Given the description of an element on the screen output the (x, y) to click on. 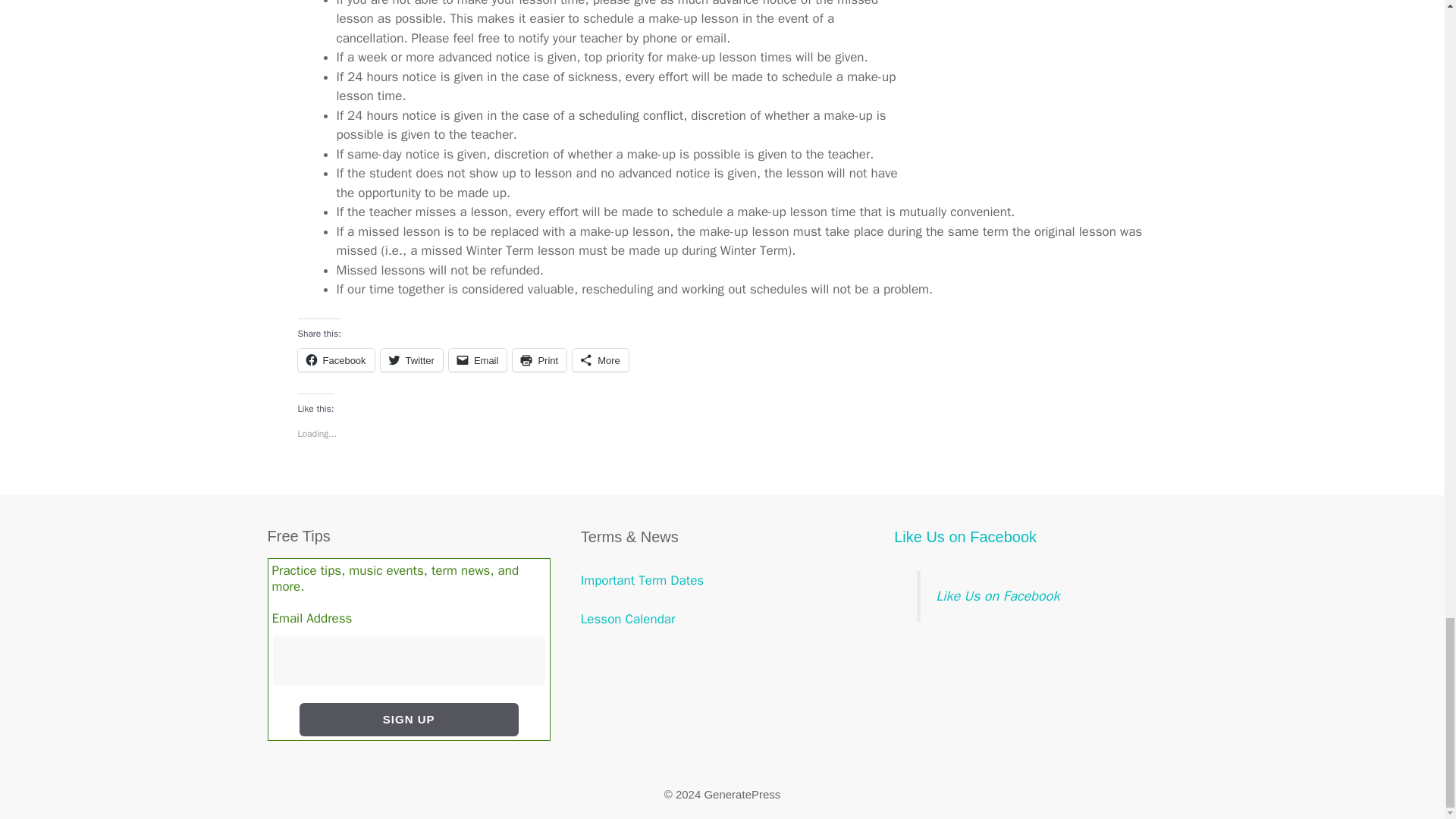
Click to share on Twitter (411, 359)
Click to email a link to a friend (477, 359)
Click to share on Facebook (335, 359)
Sign Up (408, 719)
Click to print (539, 359)
